Given the description of an element on the screen output the (x, y) to click on. 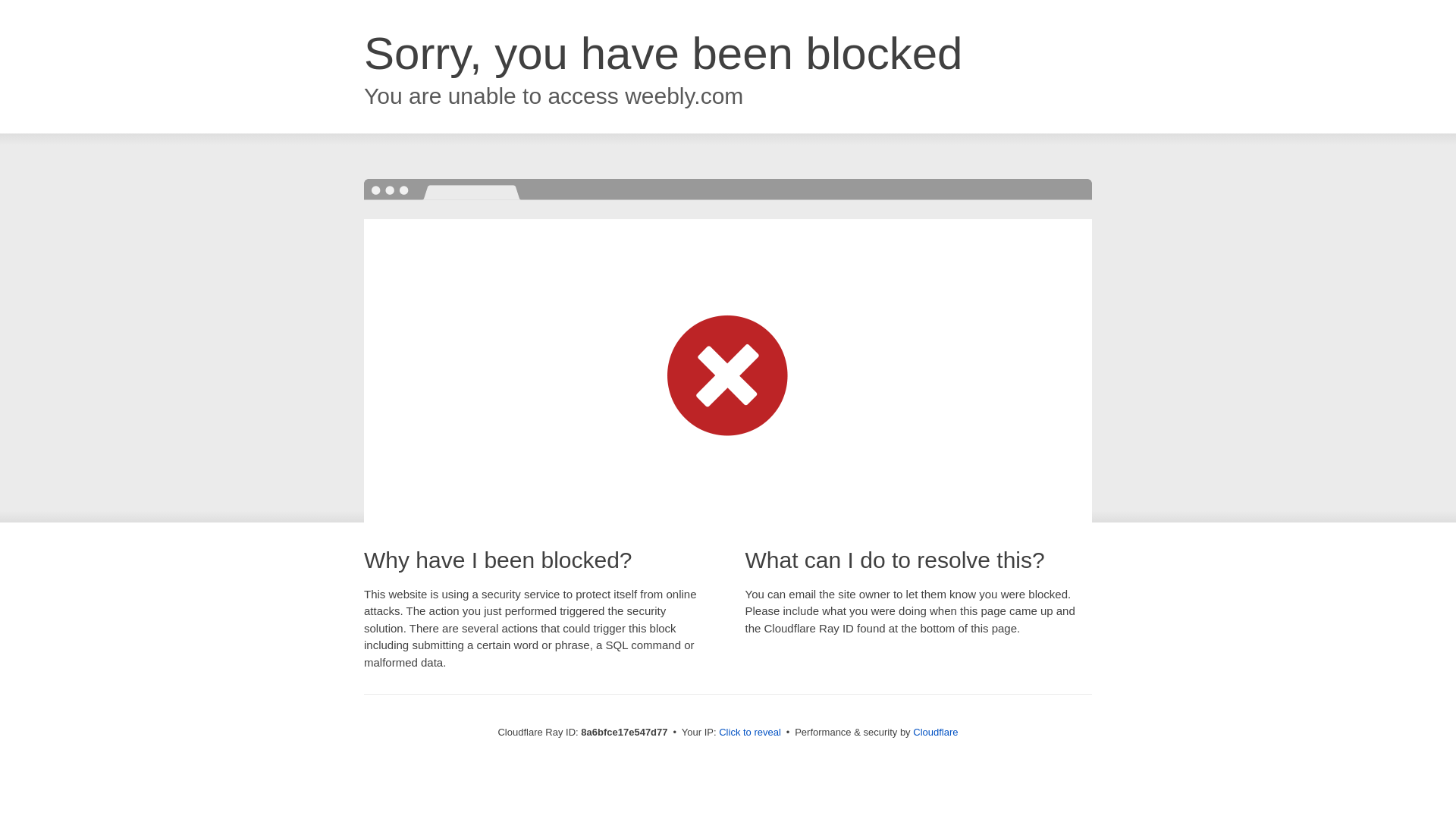
Cloudflare (935, 731)
Click to reveal (749, 732)
